Given the description of an element on the screen output the (x, y) to click on. 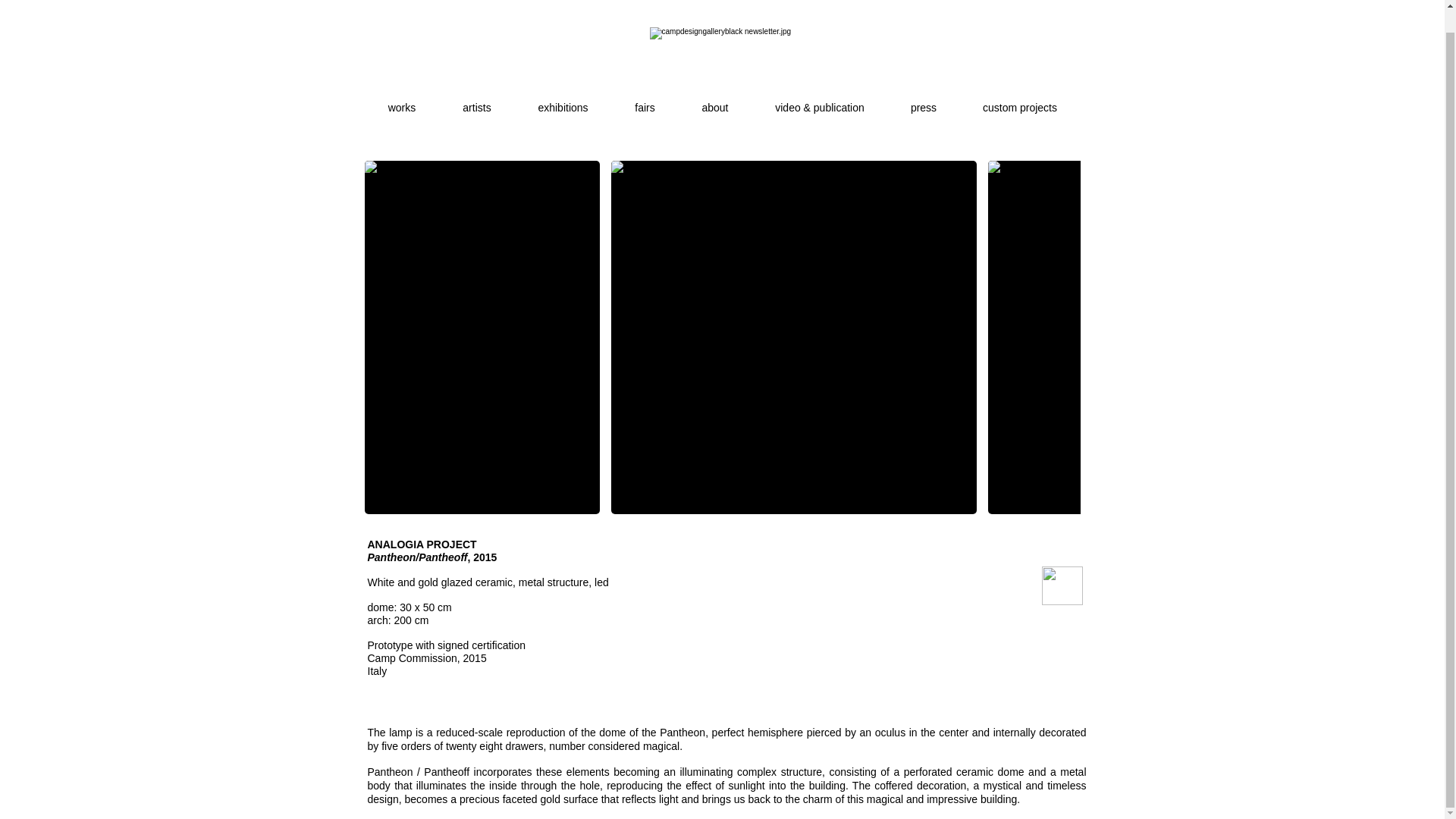
about (714, 100)
exhibitions (562, 100)
press (922, 100)
works (401, 100)
custom projects (1019, 100)
fairs (644, 100)
artists (477, 100)
Ask for more info (1062, 585)
